Given the description of an element on the screen output the (x, y) to click on. 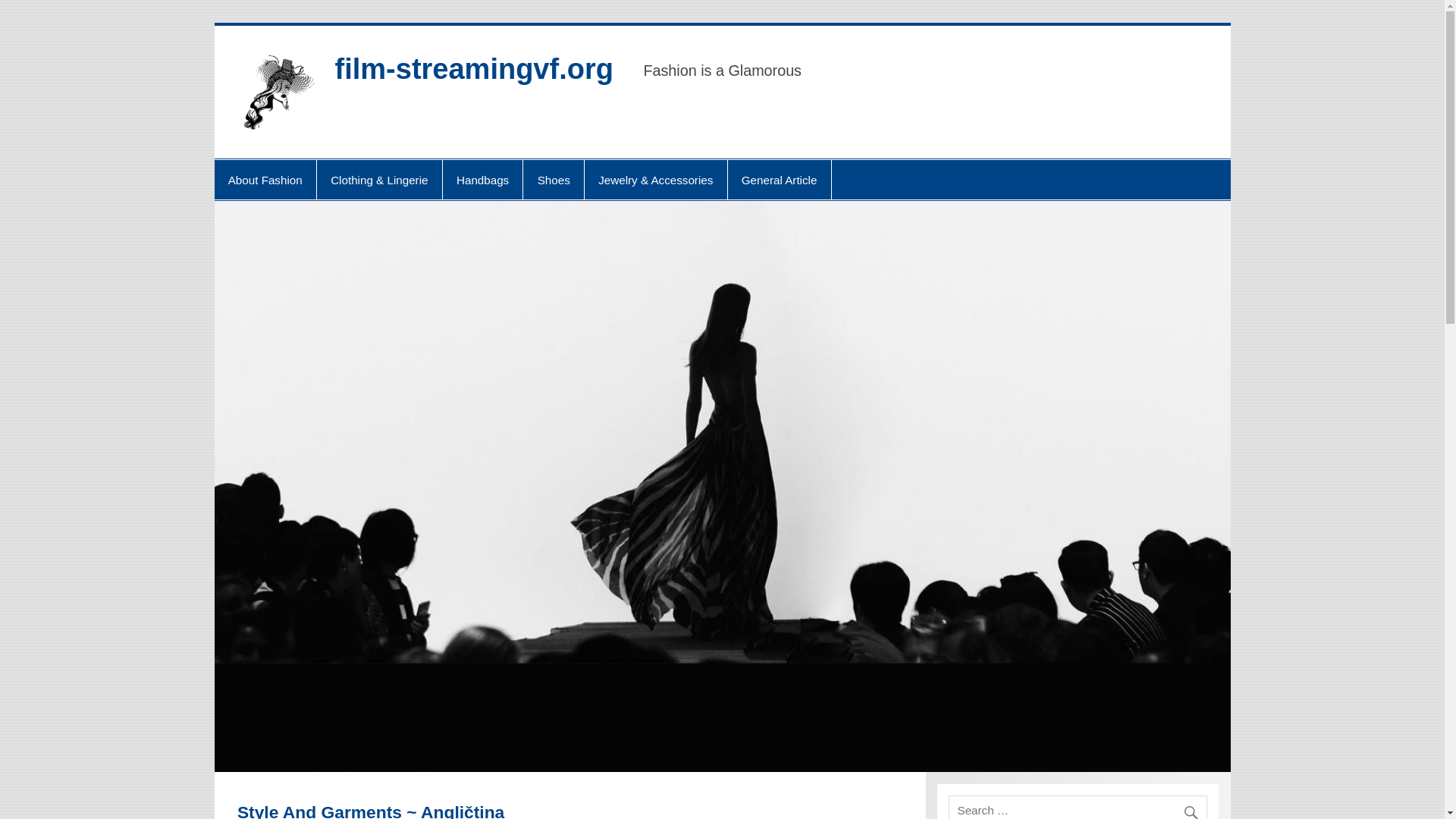
film-streamingvf.org (473, 69)
Shoes (552, 179)
About Fashion (264, 179)
General Article (779, 179)
Handbags (482, 179)
